Given the description of an element on the screen output the (x, y) to click on. 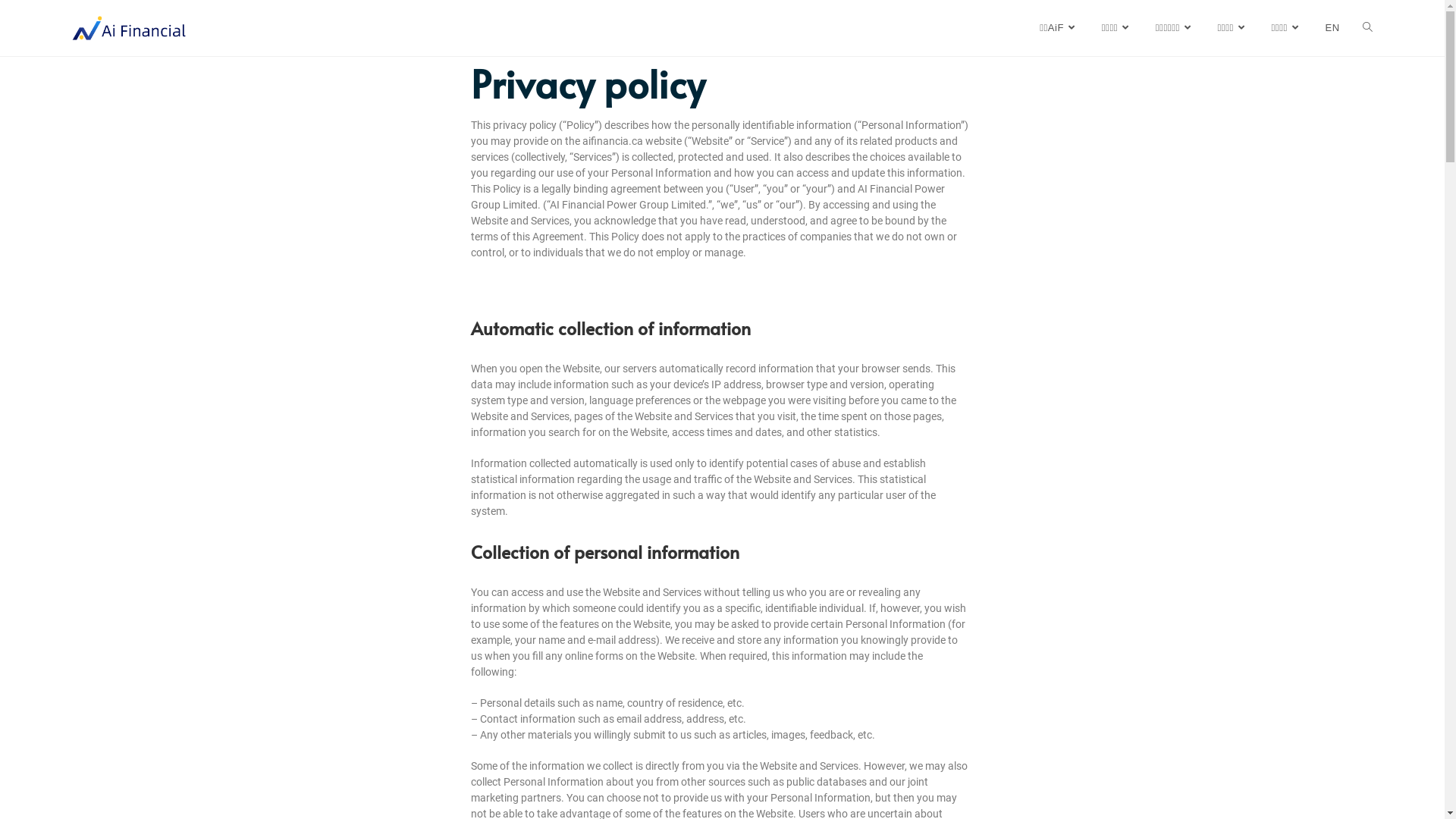
EN Element type: text (1331, 28)
